Given the description of an element on the screen output the (x, y) to click on. 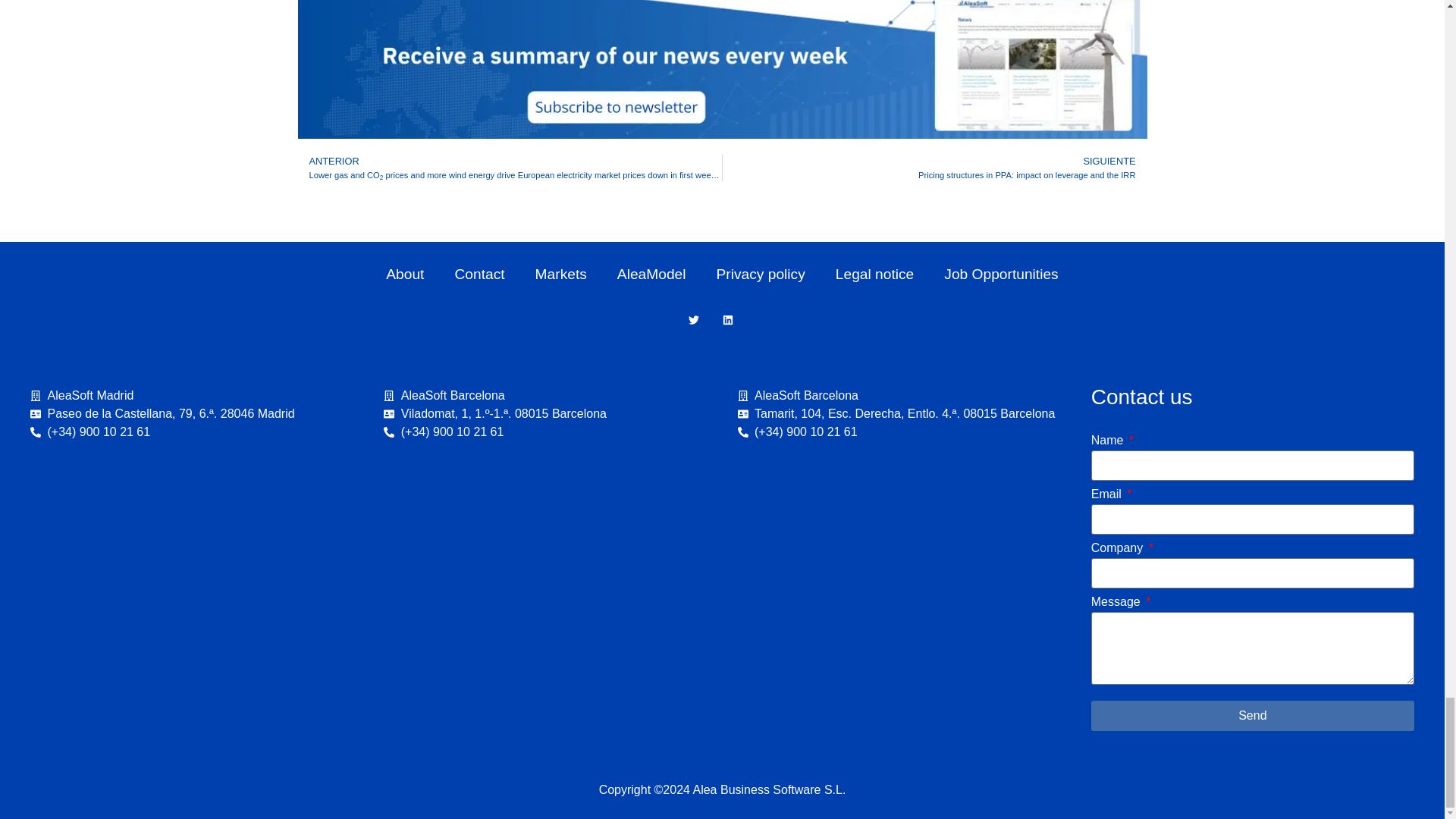
Tamarit 104, 08015 (897, 569)
Paseo de la Castellana 79, 28046, Madrid, Spain (191, 569)
